Given the description of an element on the screen output the (x, y) to click on. 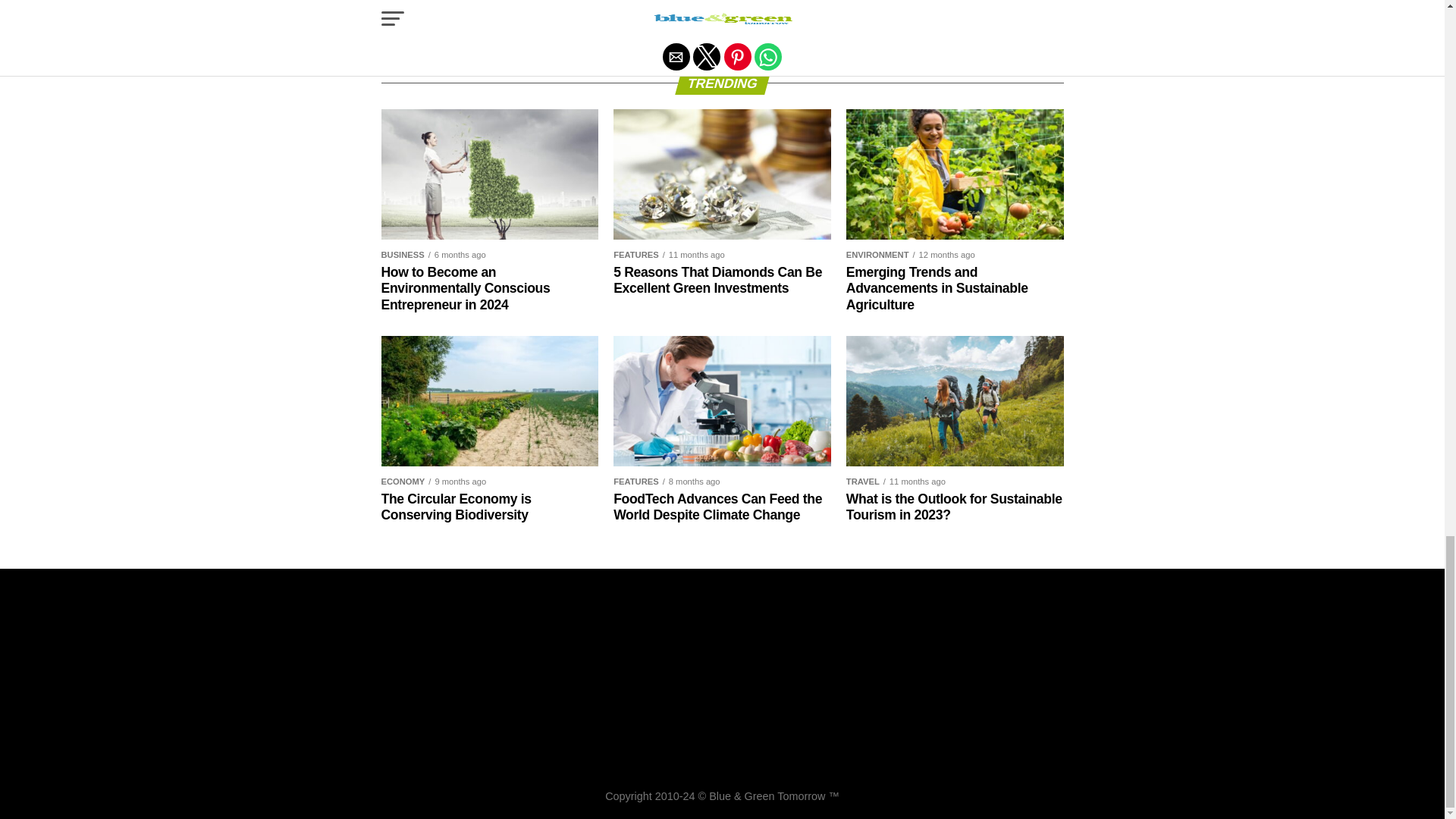
3rd party ad content (721, 686)
BARCLAYS (507, 5)
ETHICAL BANKING (676, 5)
THE CITY (497, 19)
LONDON INTERBANK OVERNIGHT RATE (875, 5)
BOB DIAMOND (583, 5)
WALL STREET JOURNAL (593, 19)
LIBOR (751, 5)
MARCUS AGIUS (425, 19)
